Given the description of an element on the screen output the (x, y) to click on. 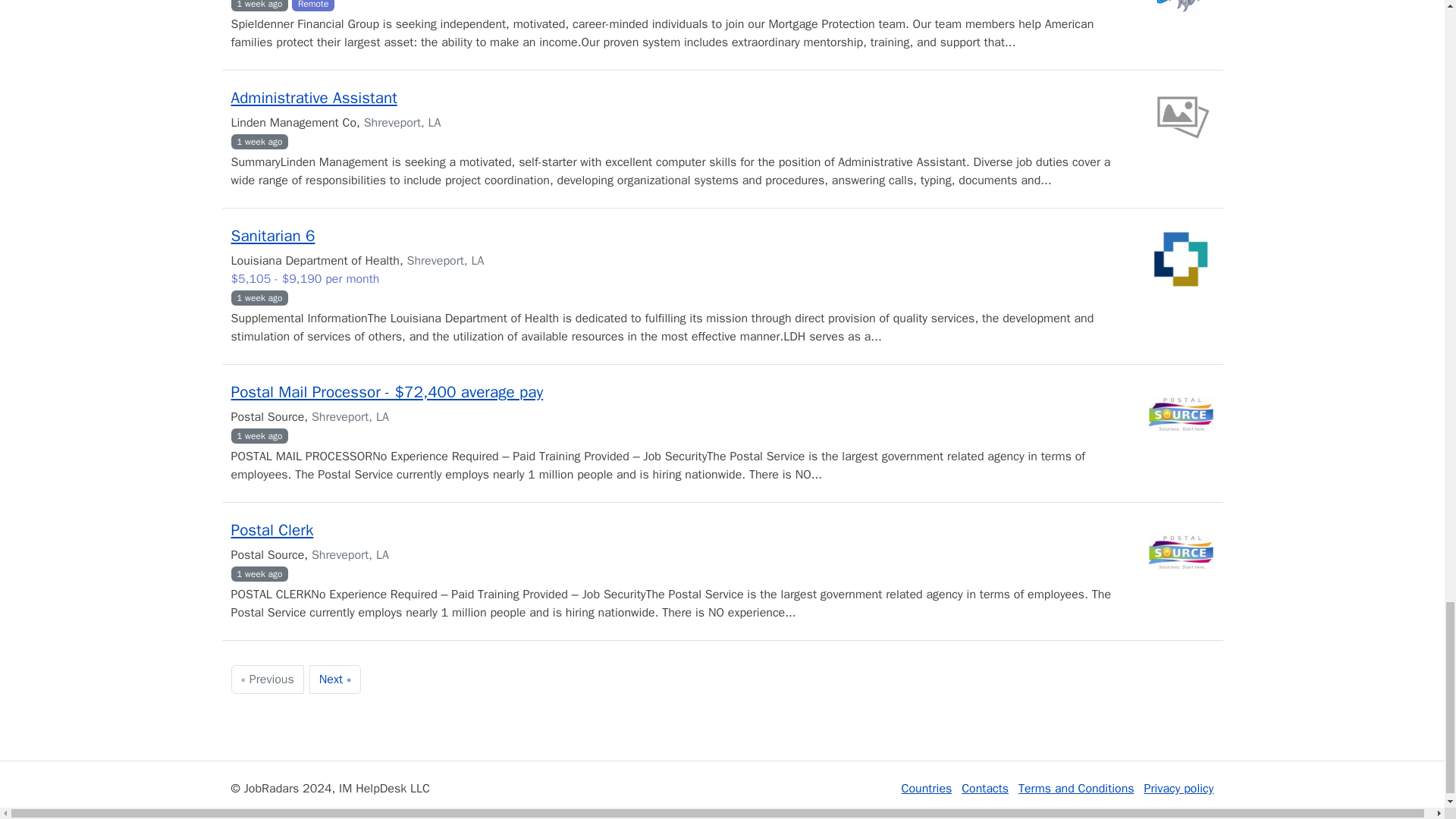
Administrative Assistant (313, 97)
Contacts (984, 788)
Privacy policy (1177, 788)
Sanitarian 6 (272, 235)
Terms and Conditions (1075, 788)
Postal Clerk (271, 529)
Countries (926, 788)
